Given the description of an element on the screen output the (x, y) to click on. 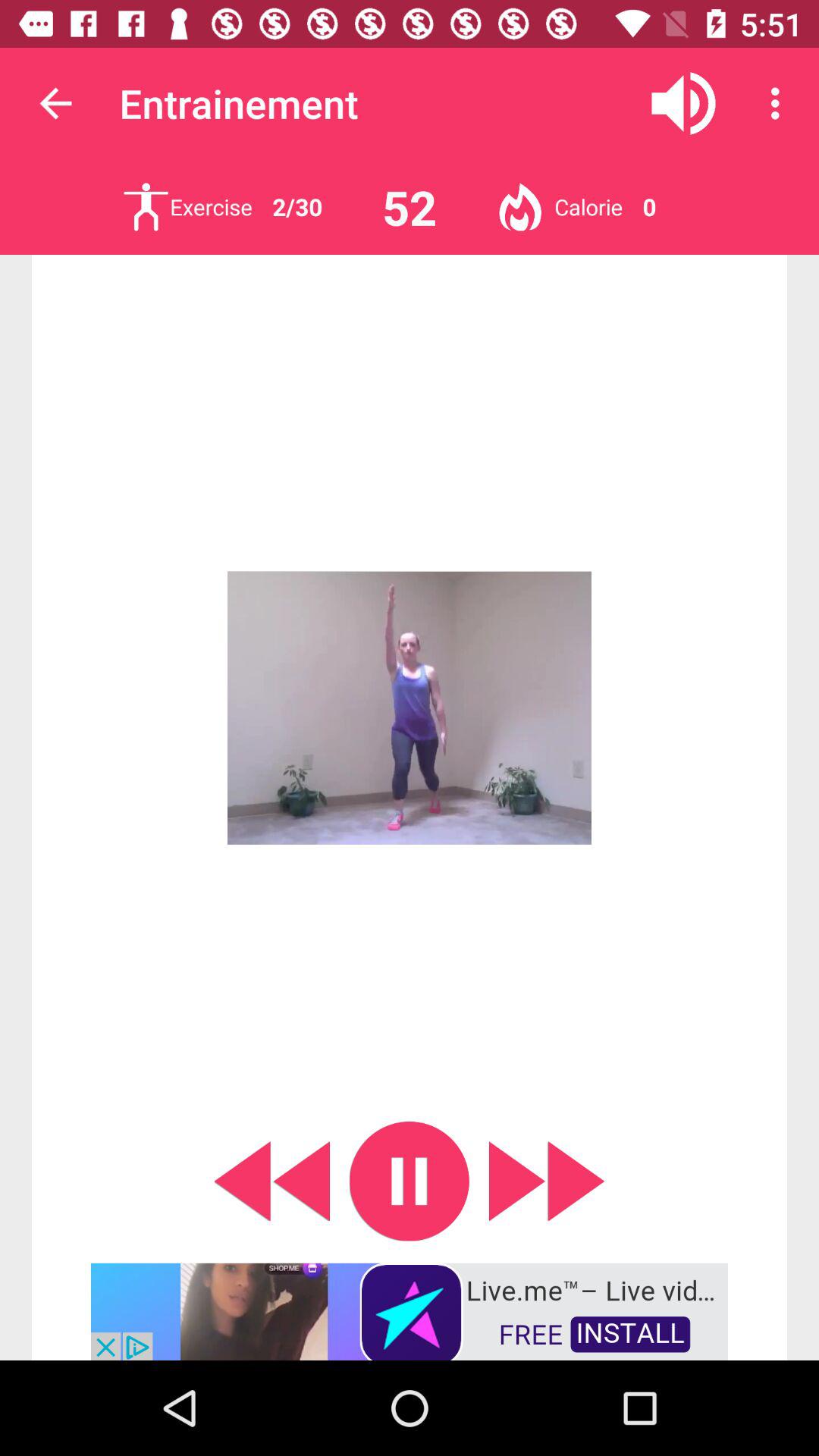
mute sound (683, 103)
